Given the description of an element on the screen output the (x, y) to click on. 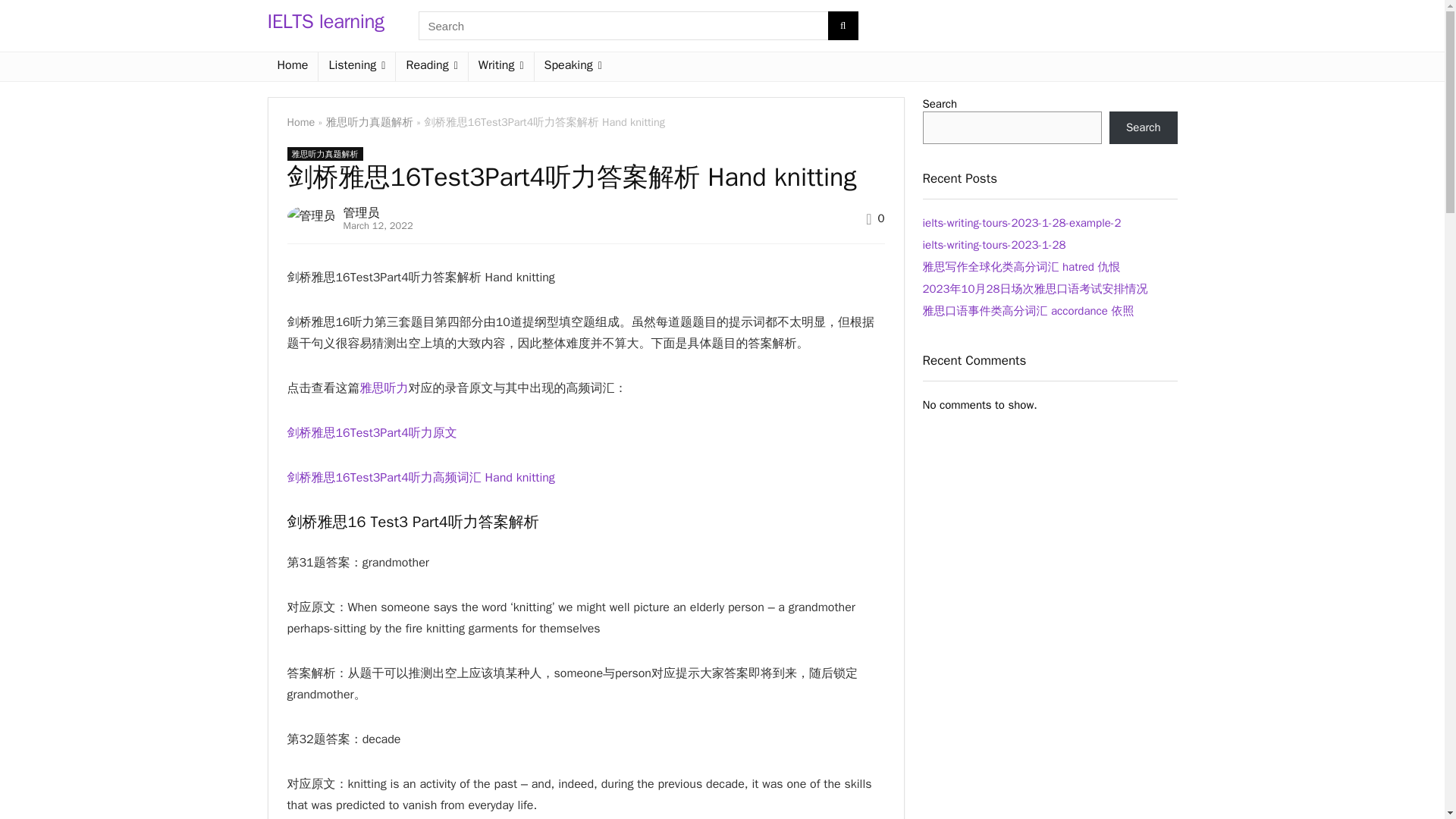
Reading (431, 66)
Writing (501, 66)
Home (300, 121)
Listening (356, 66)
Speaking (572, 66)
Home (291, 66)
